Given the description of an element on the screen output the (x, y) to click on. 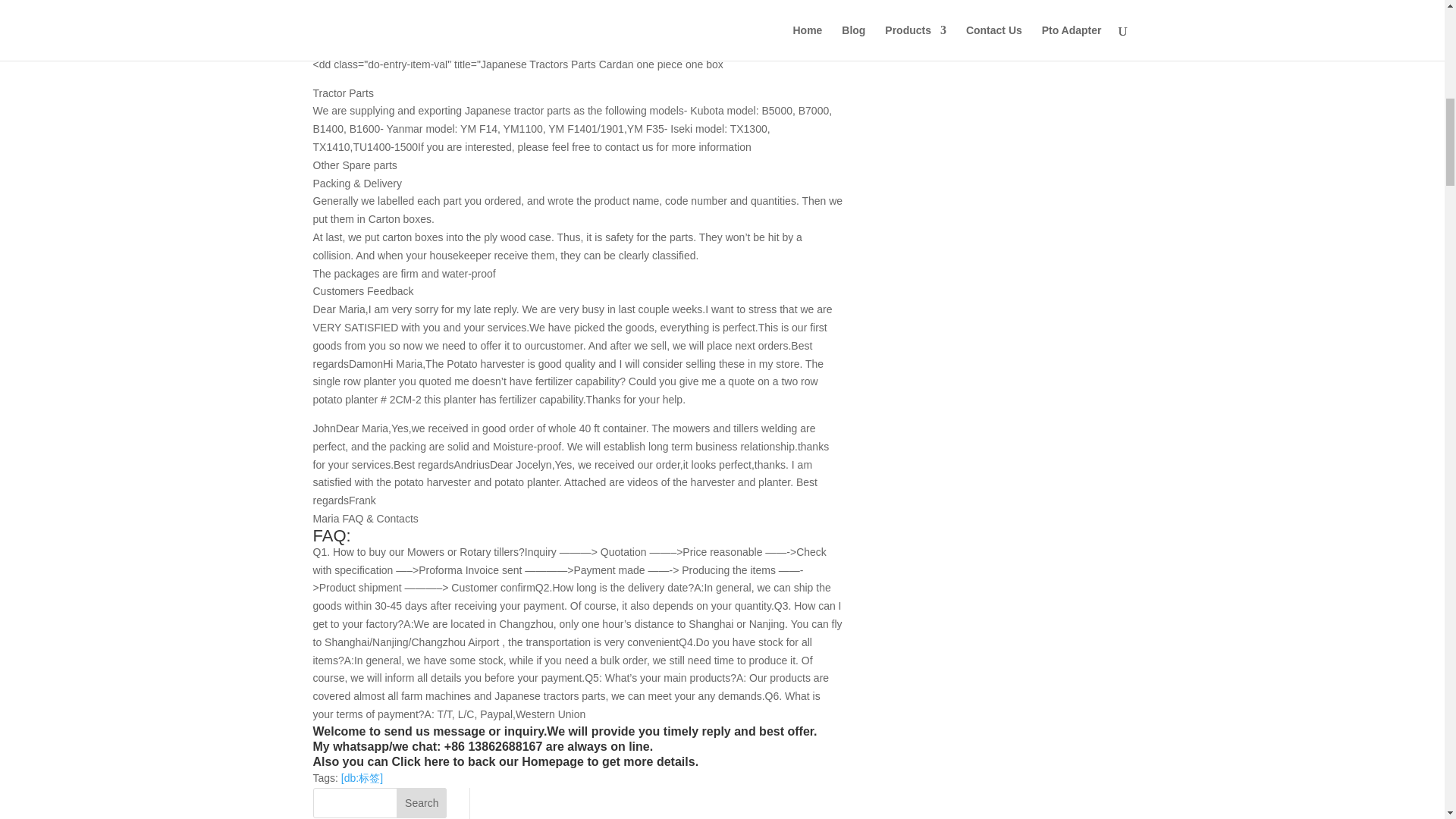
Packaging Details (578, 46)
Search (421, 802)
Search (421, 802)
